Given the description of an element on the screen output the (x, y) to click on. 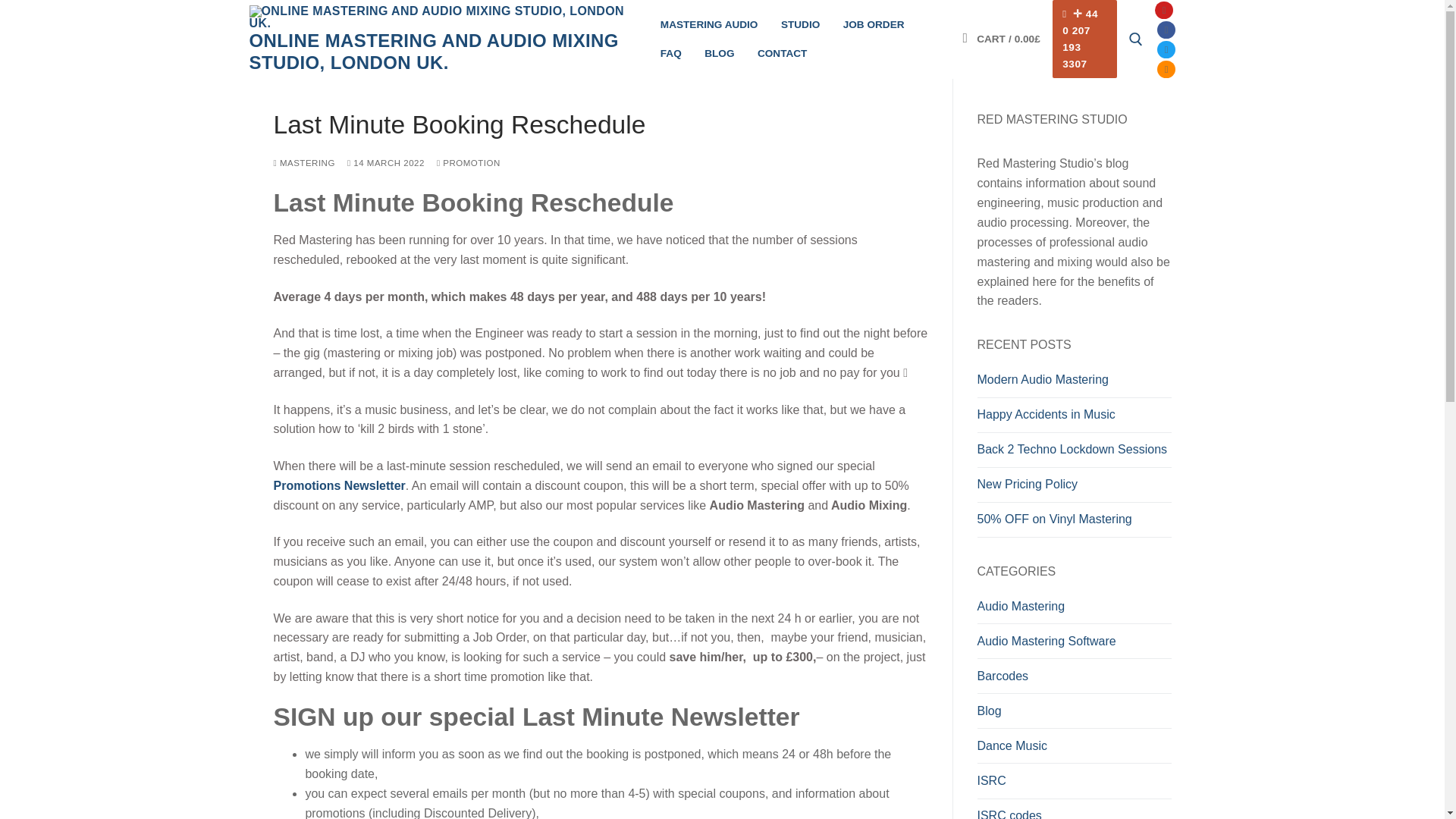
BLOG (719, 53)
Youtube (1163, 9)
FAQ (670, 53)
JOB ORDER (873, 24)
MASTERING AUDIO (709, 24)
Twitter (1166, 49)
STUDIO (800, 24)
CONTACT (782, 53)
Facebook (1166, 30)
SoundCloud (1166, 69)
ONLINE MASTERING AND AUDIO MIXING STUDIO, LONDON UK. (442, 51)
